Given the description of an element on the screen output the (x, y) to click on. 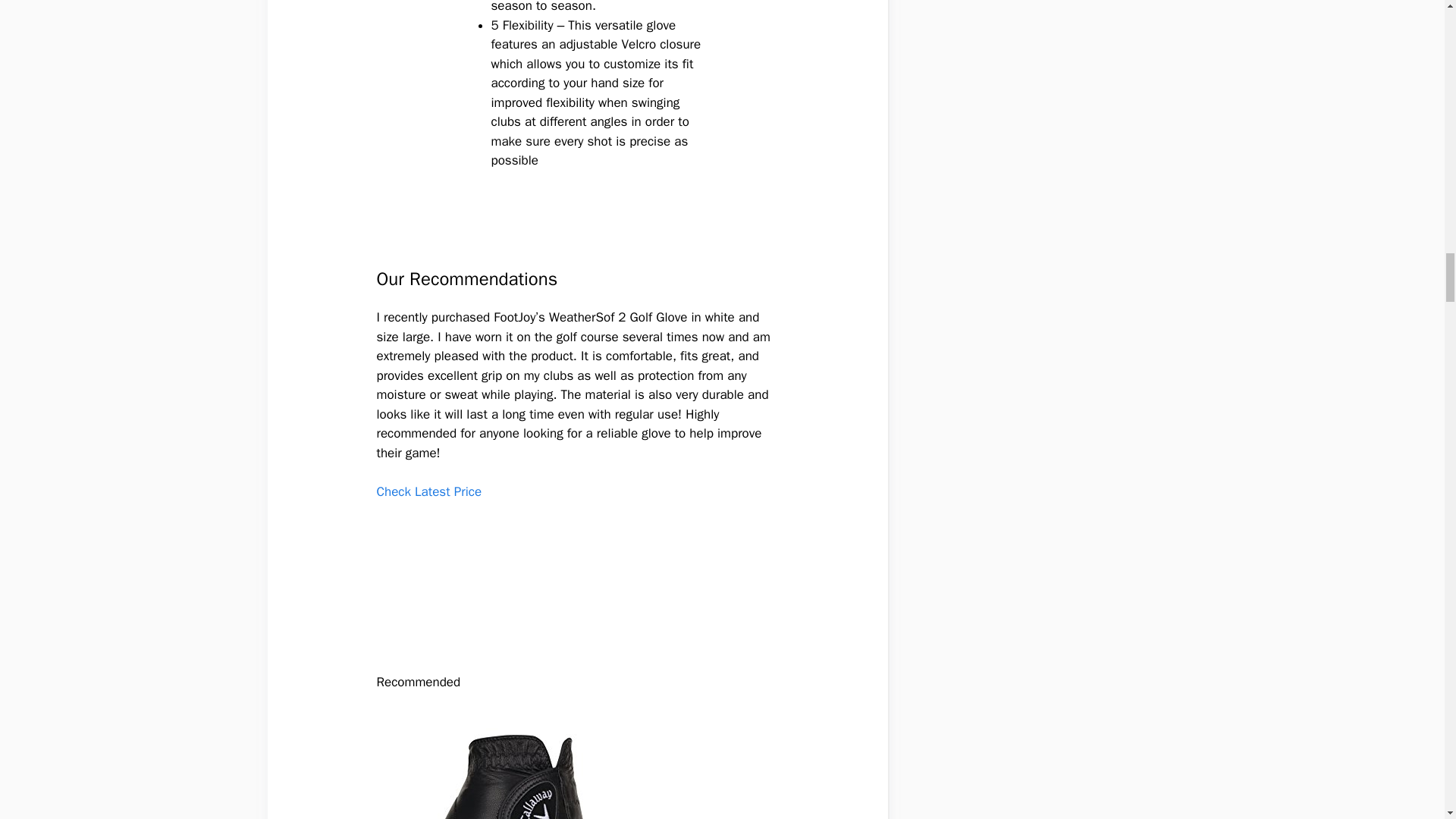
Check Latest Price (428, 491)
